Given the description of an element on the screen output the (x, y) to click on. 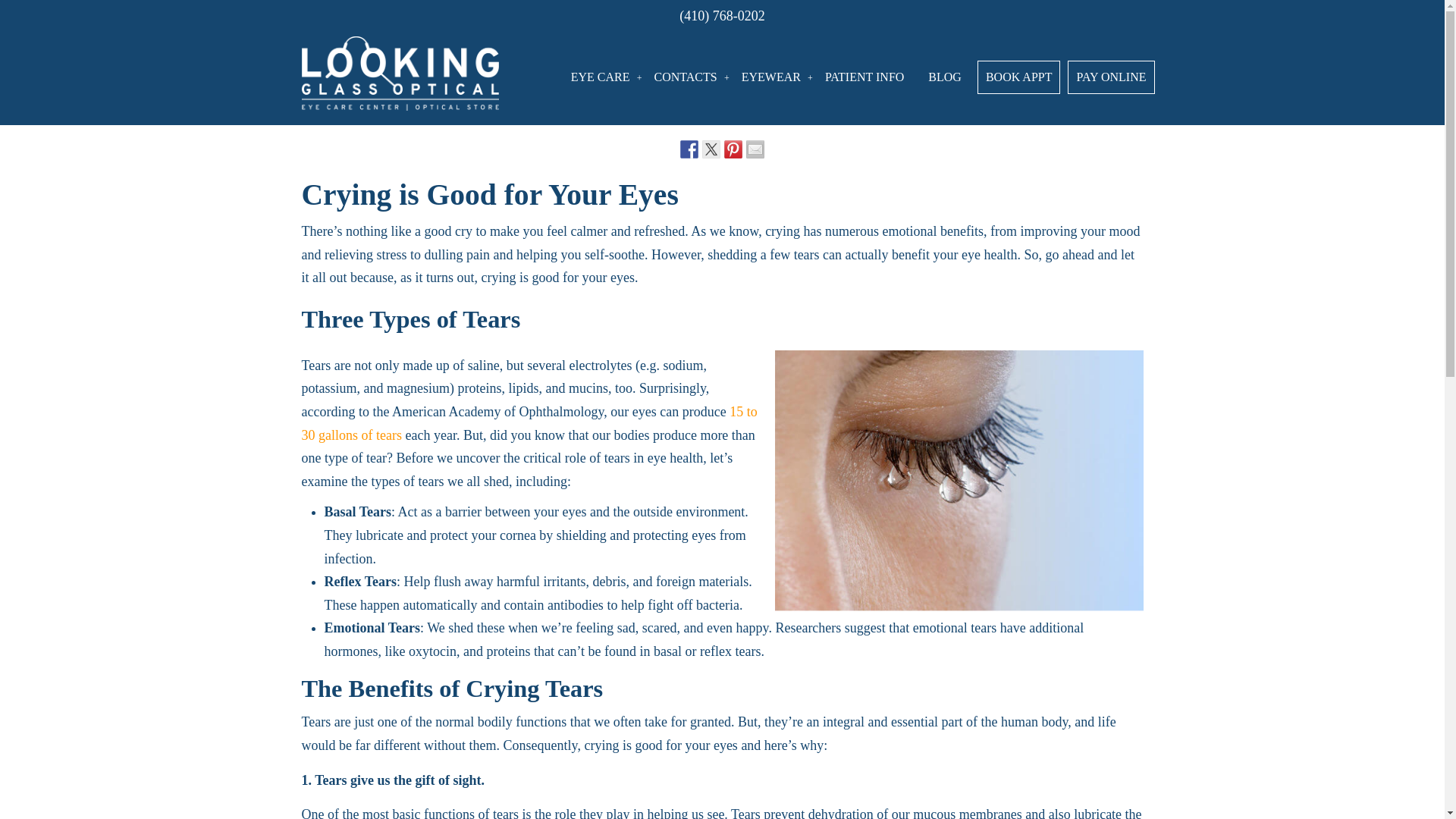
Looking Glass Optical (400, 72)
Share by email (754, 149)
PAY ONLINE (1110, 77)
Share on Facebook (688, 149)
15 to 30 gallons of tears (529, 423)
Share on Twitter (710, 149)
BOOK APPT (1019, 77)
PATIENT INFO (863, 77)
CONTACTS (685, 77)
EYEWEAR (770, 77)
BLOG (944, 77)
Pin it with Pinterest (732, 149)
EYE CARE (600, 77)
Looking Glass Optical (400, 72)
